Given the description of an element on the screen output the (x, y) to click on. 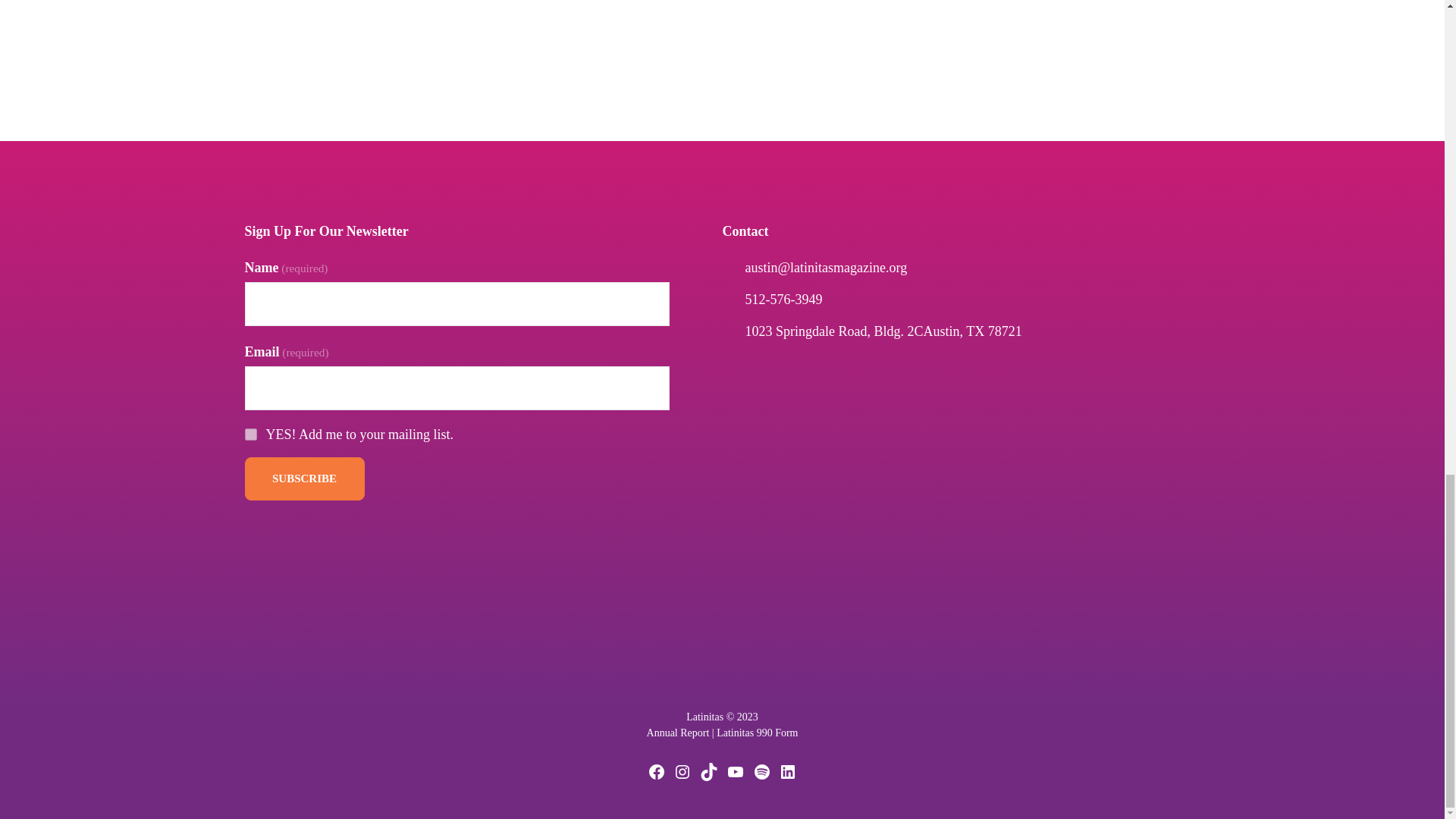
Facebook (656, 771)
YouTube (735, 771)
512-576-3949 (783, 299)
Annual Report (678, 732)
Yes (250, 434)
Spotify (761, 771)
SUBSCRIBE (304, 478)
TikTok (708, 771)
Austin, TX 78721 (972, 331)
LinkedIn (787, 771)
Instagram (681, 771)
1023 Springdale Road, Bldg. 2C (833, 331)
